Given the description of an element on the screen output the (x, y) to click on. 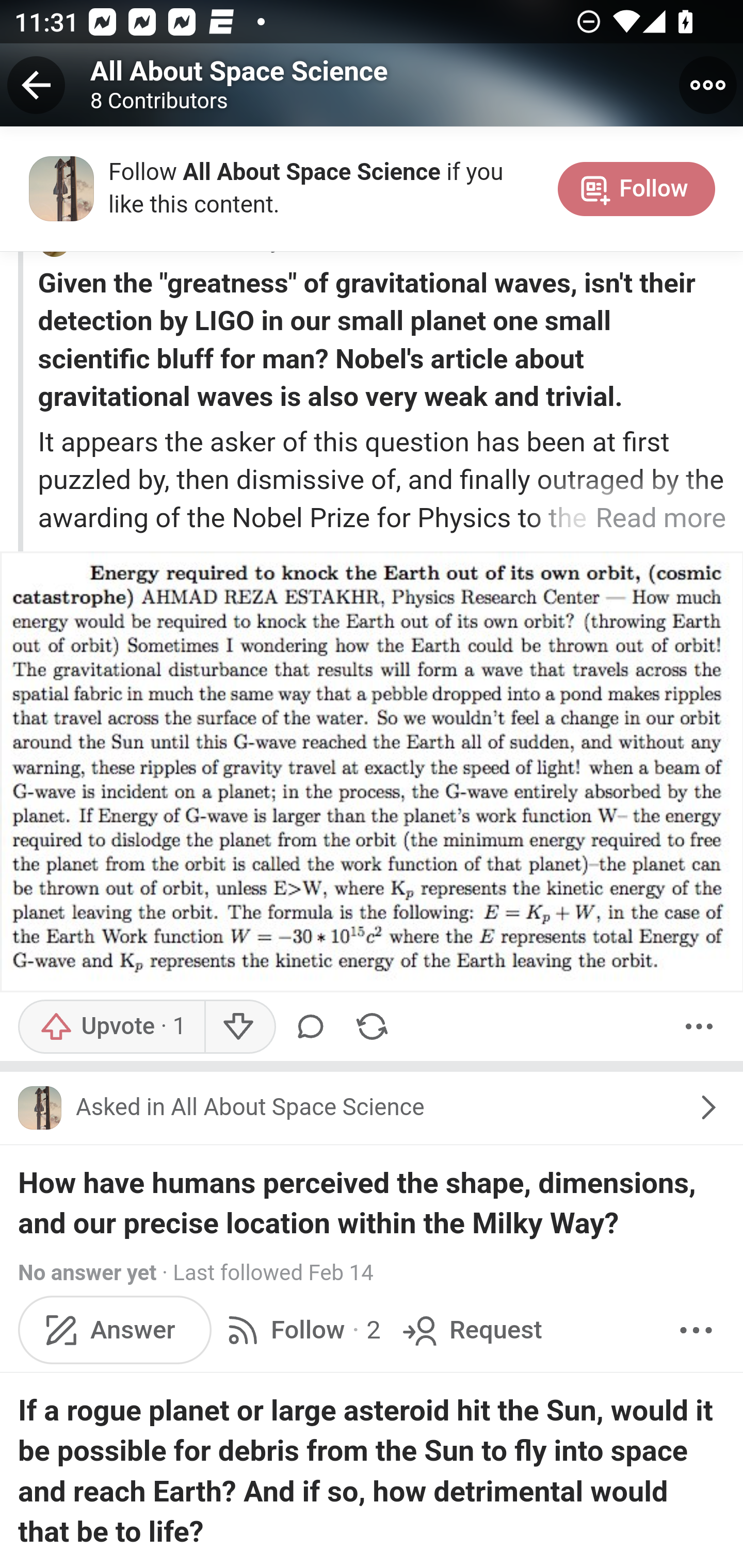
Upvote (111, 1025)
Downvote (238, 1025)
Comment (313, 1025)
Share (372, 1025)
More (699, 1025)
Icon for All About Space Science (39, 1107)
No answer yet (86, 1273)
Answer (115, 1328)
Follow · 2 (300, 1328)
Request (469, 1328)
More (696, 1328)
